Given the description of an element on the screen output the (x, y) to click on. 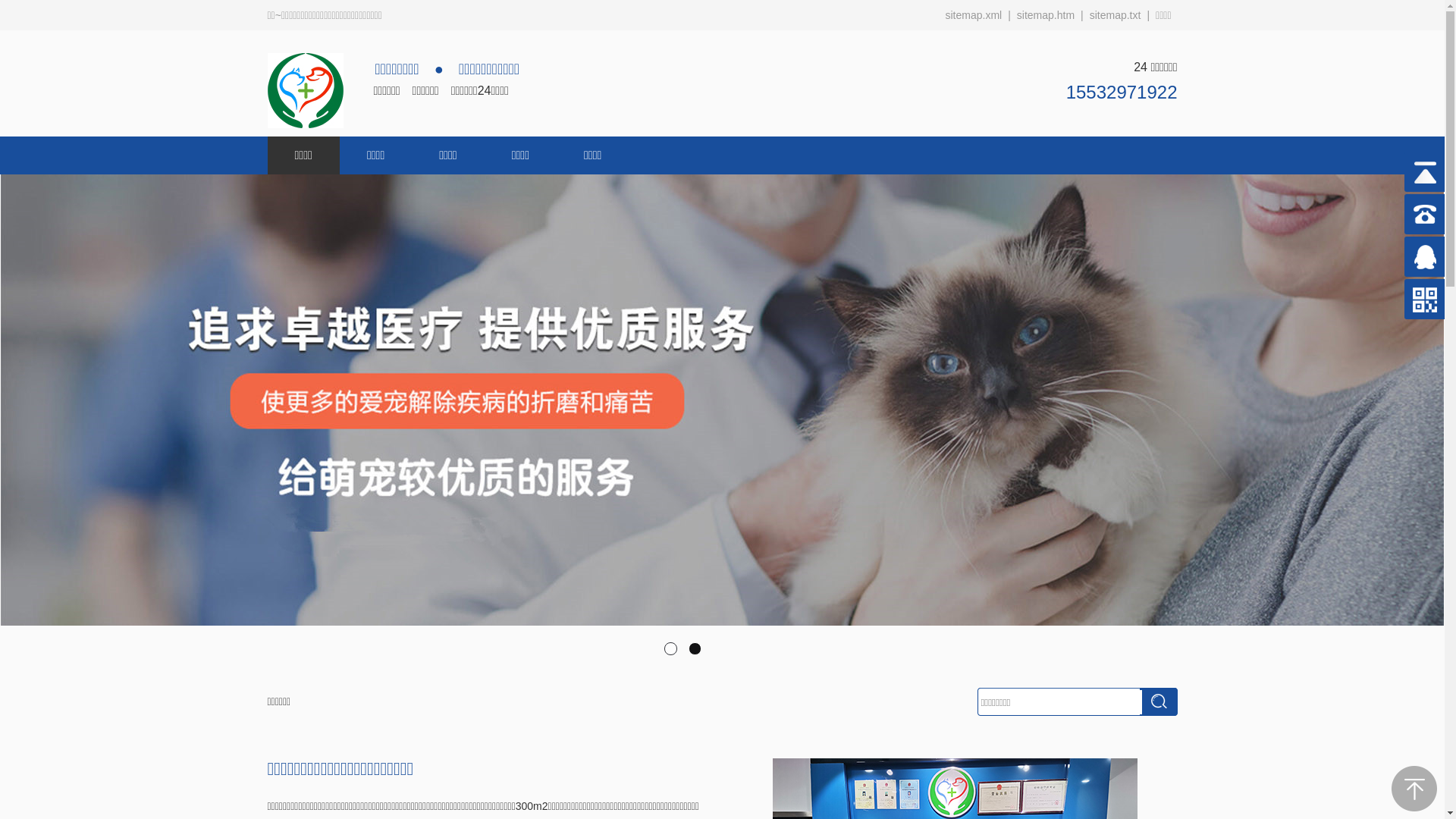
sitemap.xml Element type: text (972, 15)
sitemap.txt Element type: text (1115, 15)
sitemap.htm Element type: text (1045, 15)
